Given the description of an element on the screen output the (x, y) to click on. 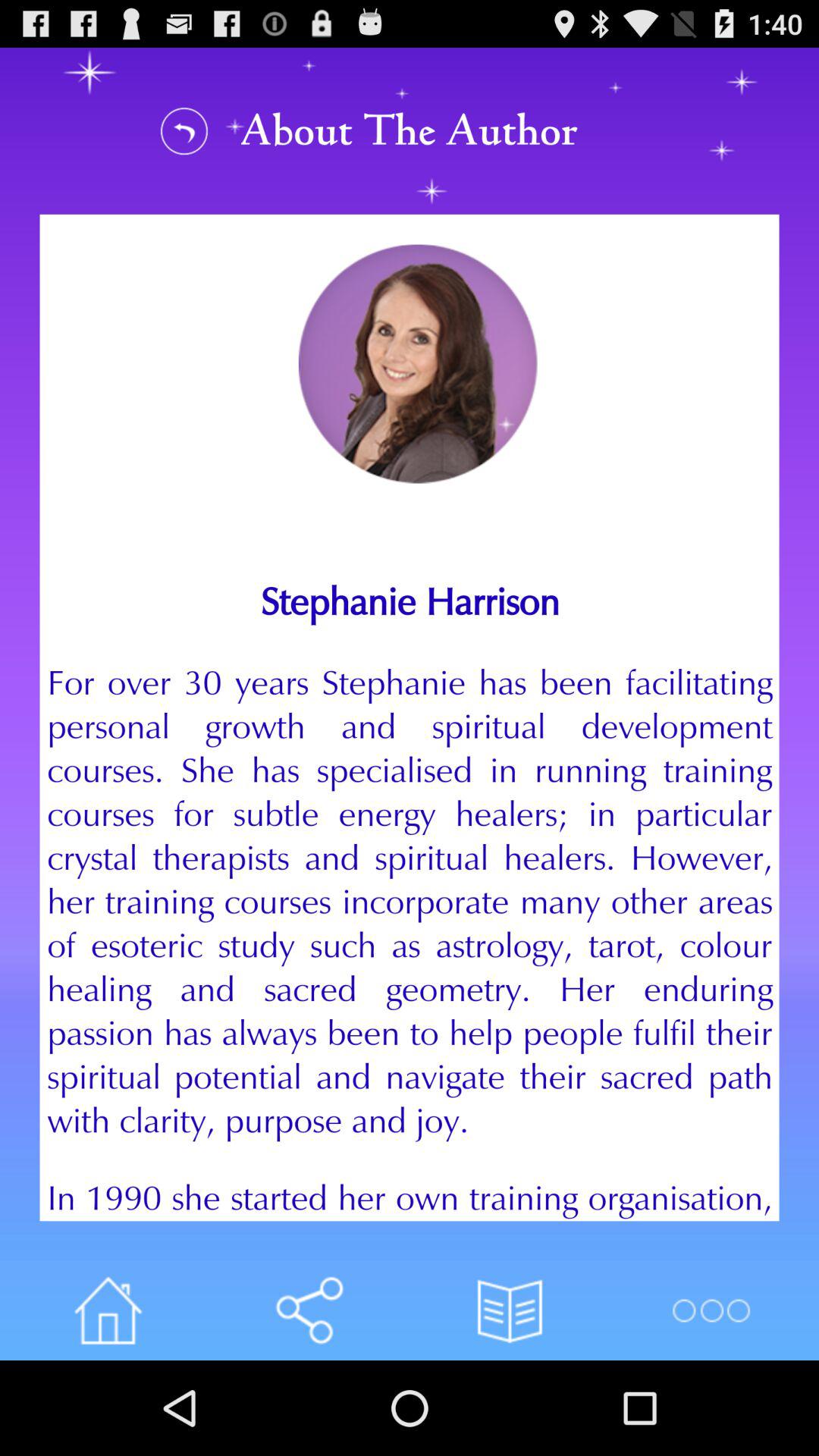
go to back (184, 130)
